Given the description of an element on the screen output the (x, y) to click on. 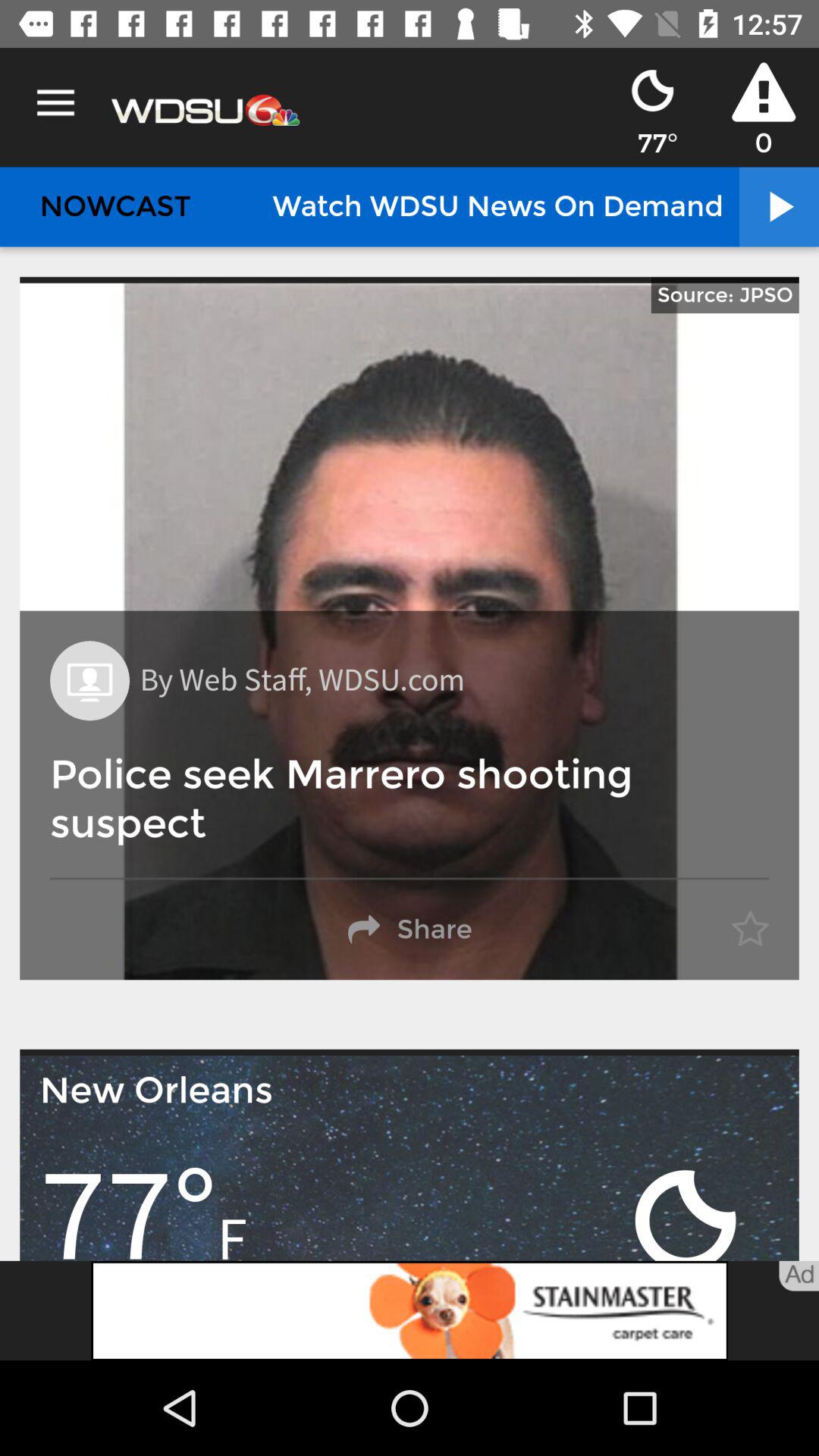
click to visit advertiser (409, 1310)
